Given the description of an element on the screen output the (x, y) to click on. 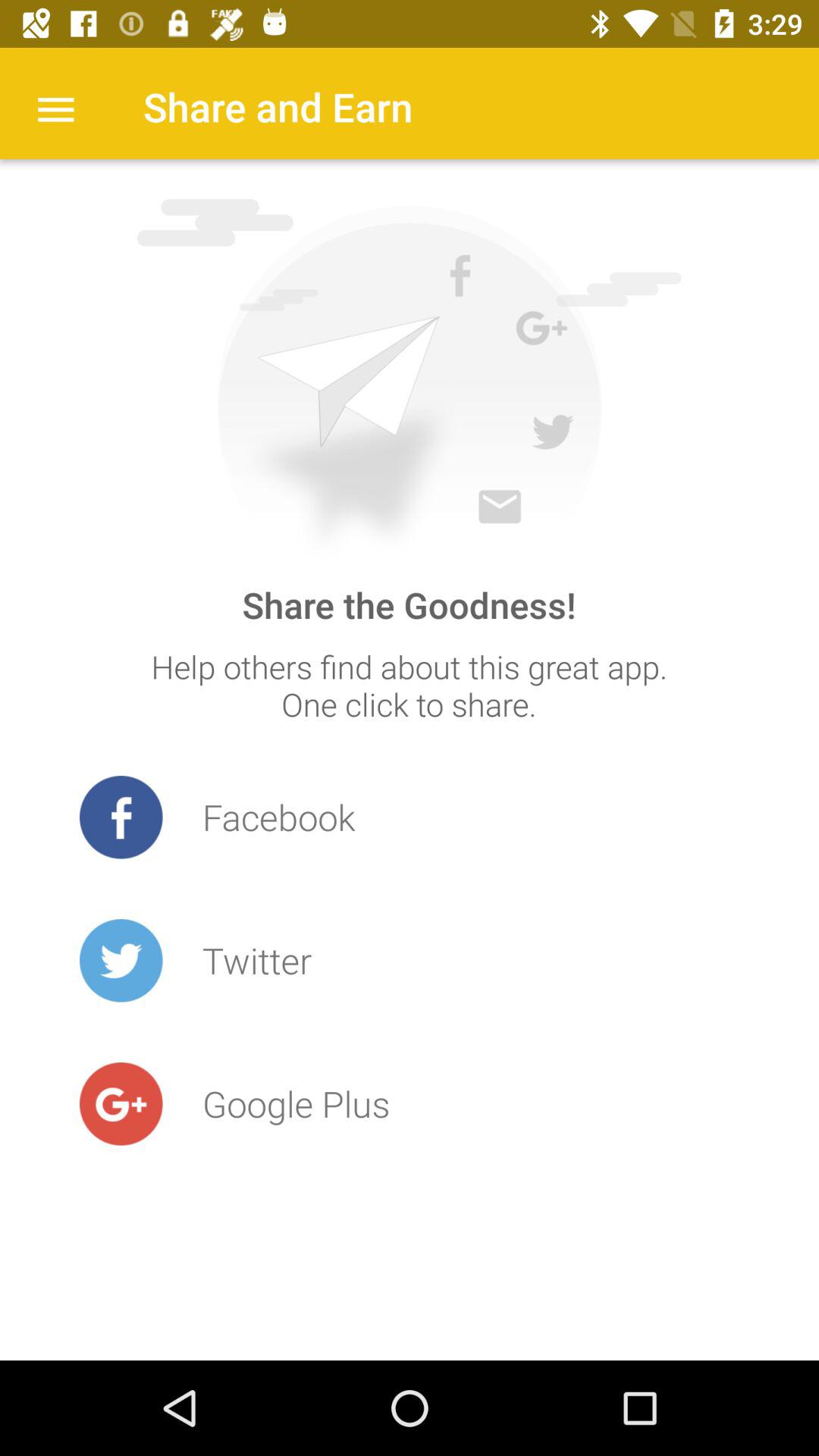
select icon above the share the goodness! item (409, 379)
